Given the description of an element on the screen output the (x, y) to click on. 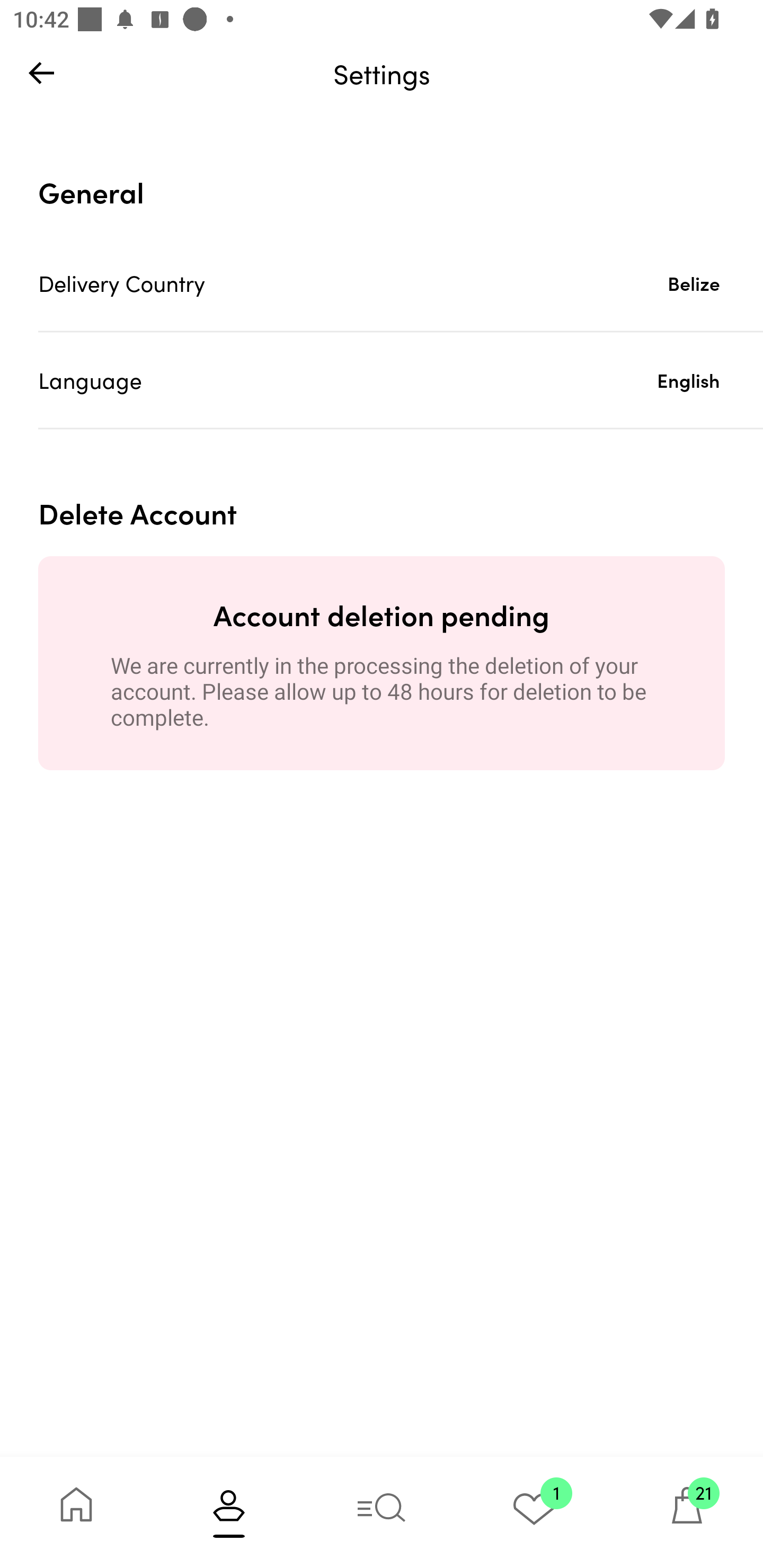
Delivery Country Belize (400, 282)
Language English (400, 380)
1 (533, 1512)
21 (686, 1512)
